Given the description of an element on the screen output the (x, y) to click on. 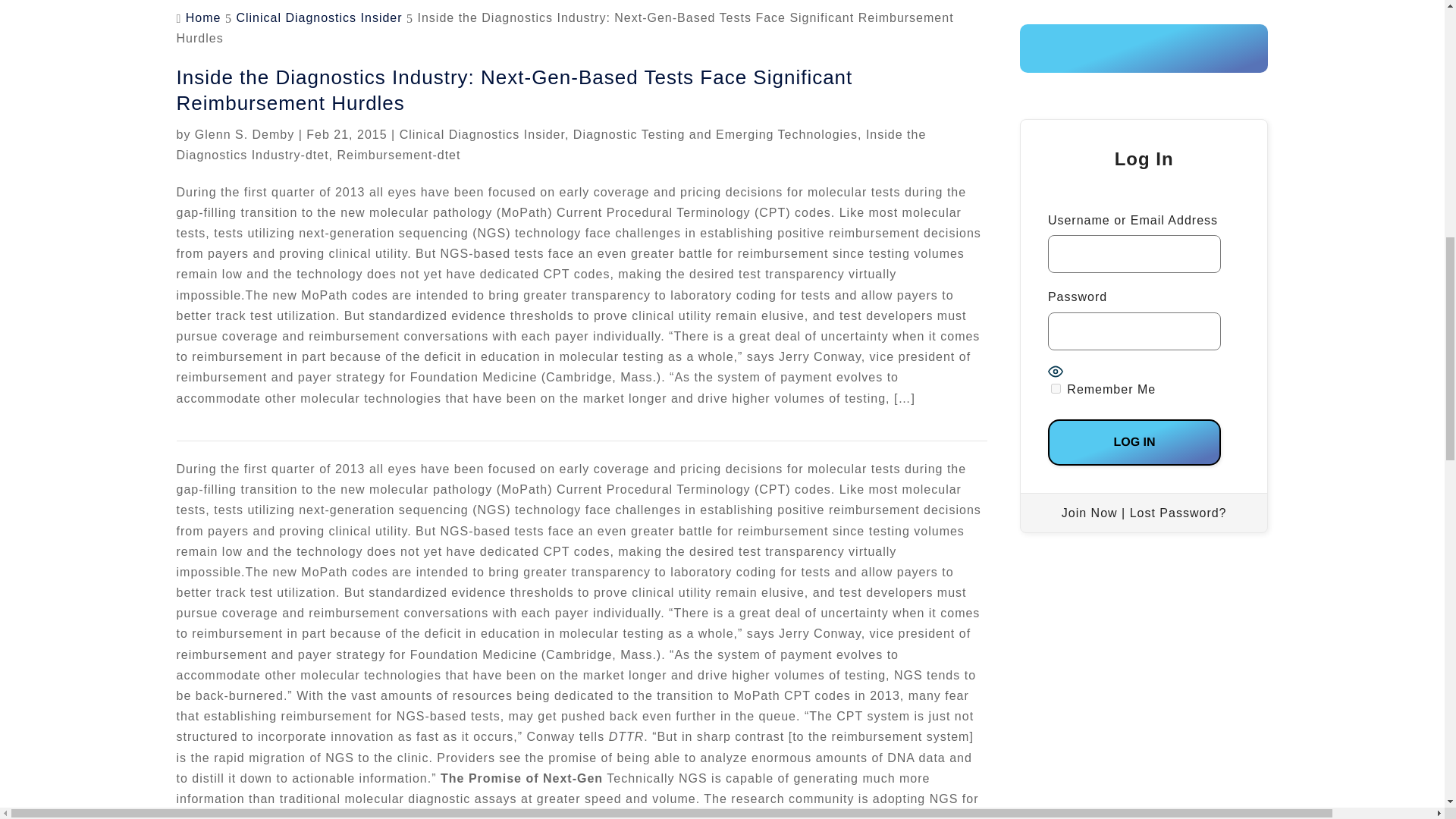
Glenn S. Demby (244, 133)
Clinical Diagnostics Insider (318, 17)
forever (1056, 388)
Log In (1134, 442)
Home (203, 17)
Posts by Glenn S. Demby (244, 133)
